Given the description of an element on the screen output the (x, y) to click on. 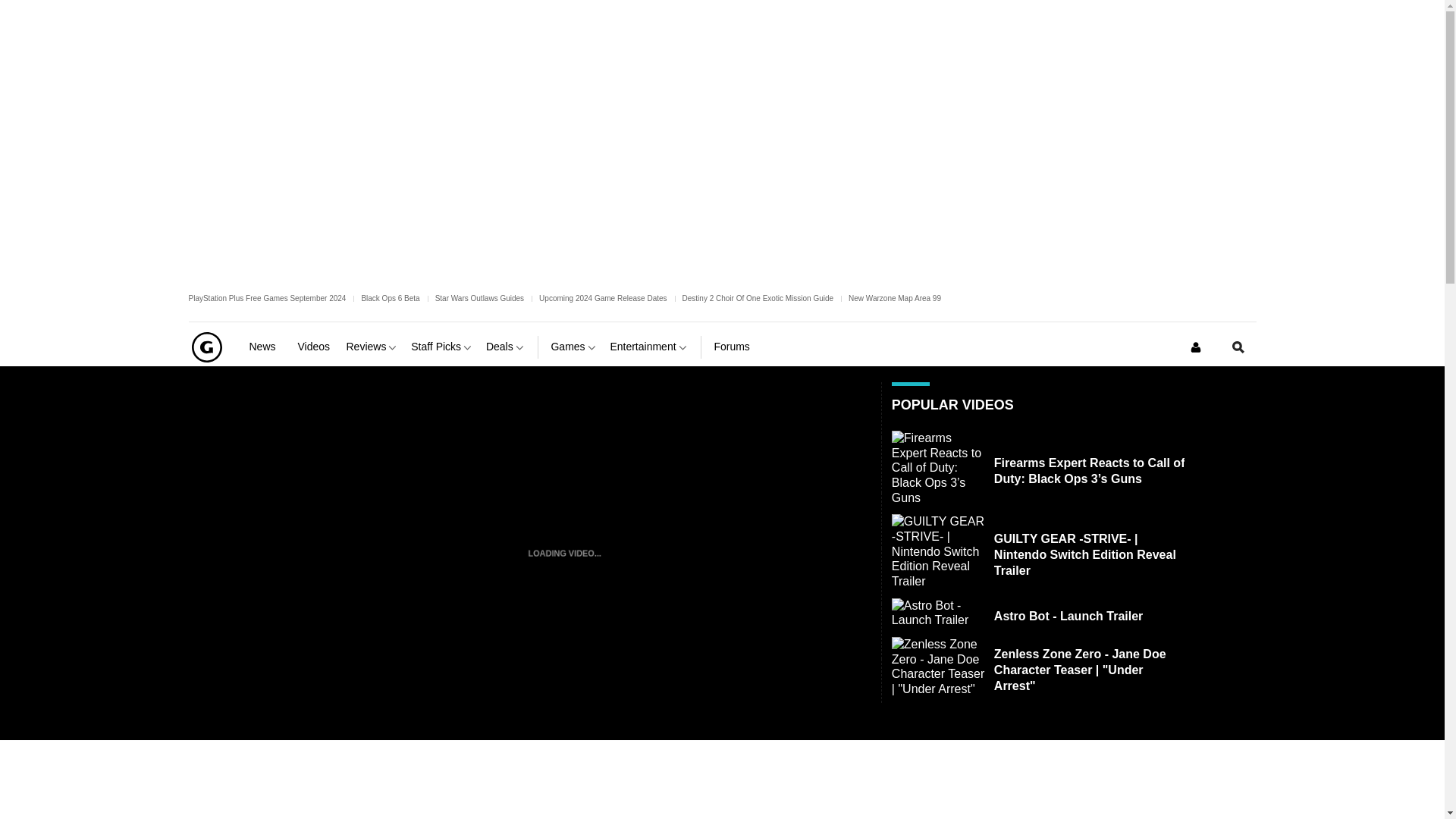
Upcoming 2024 Game Release Dates (602, 298)
PlayStation Plus Free Games September 2024 (266, 298)
Staff Picks (442, 347)
Black Ops 6 Beta (390, 298)
Games (573, 347)
GameSpot (205, 347)
Reviews (372, 347)
Videos (315, 347)
Deals (505, 347)
